Given the description of an element on the screen output the (x, y) to click on. 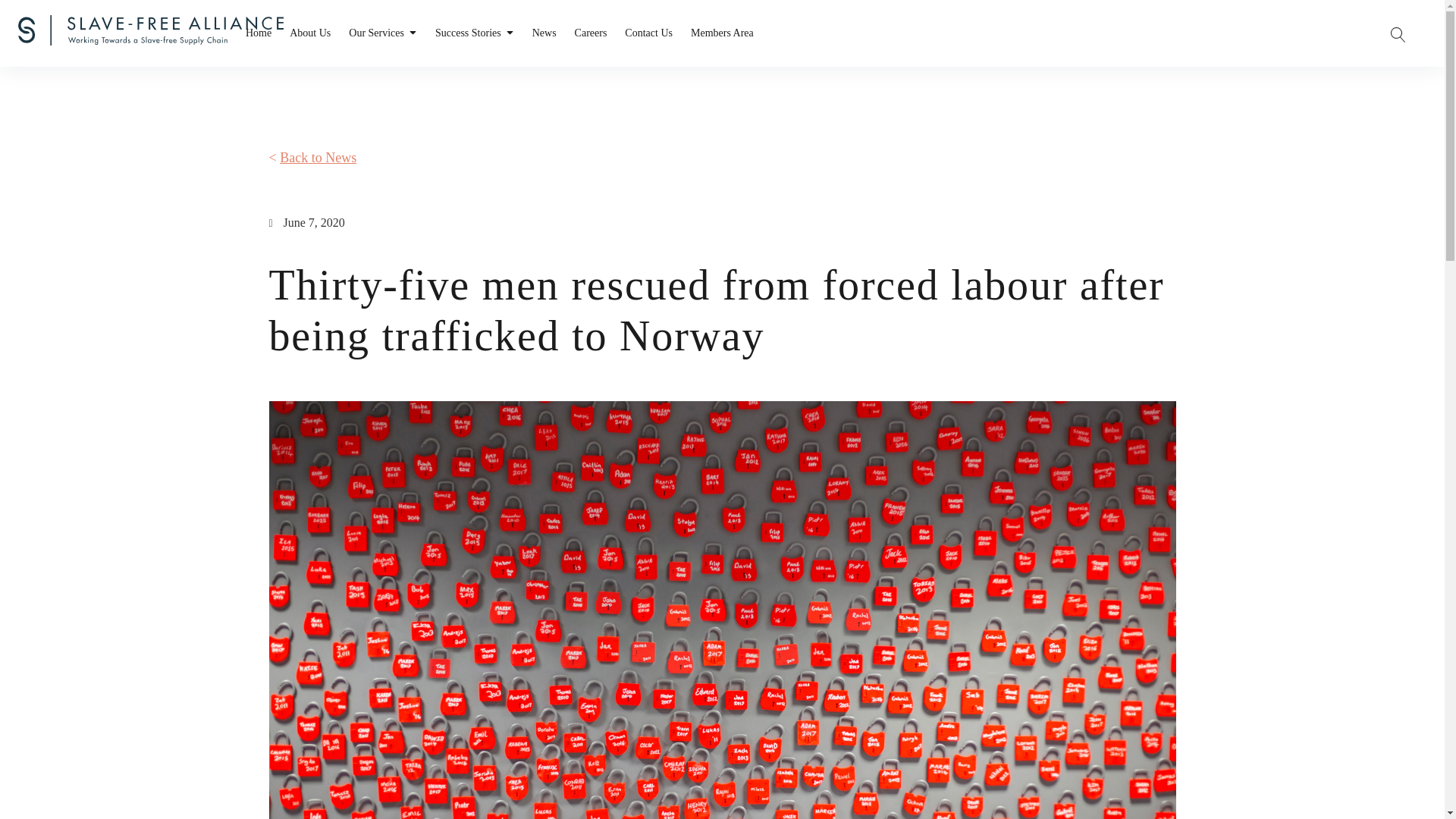
Slave-Free Alliance (82, 32)
Back to News (317, 157)
Our Services (382, 33)
June 7, 2020 (305, 222)
Success Stories (474, 33)
Members Area (722, 33)
